Given the description of an element on the screen output the (x, y) to click on. 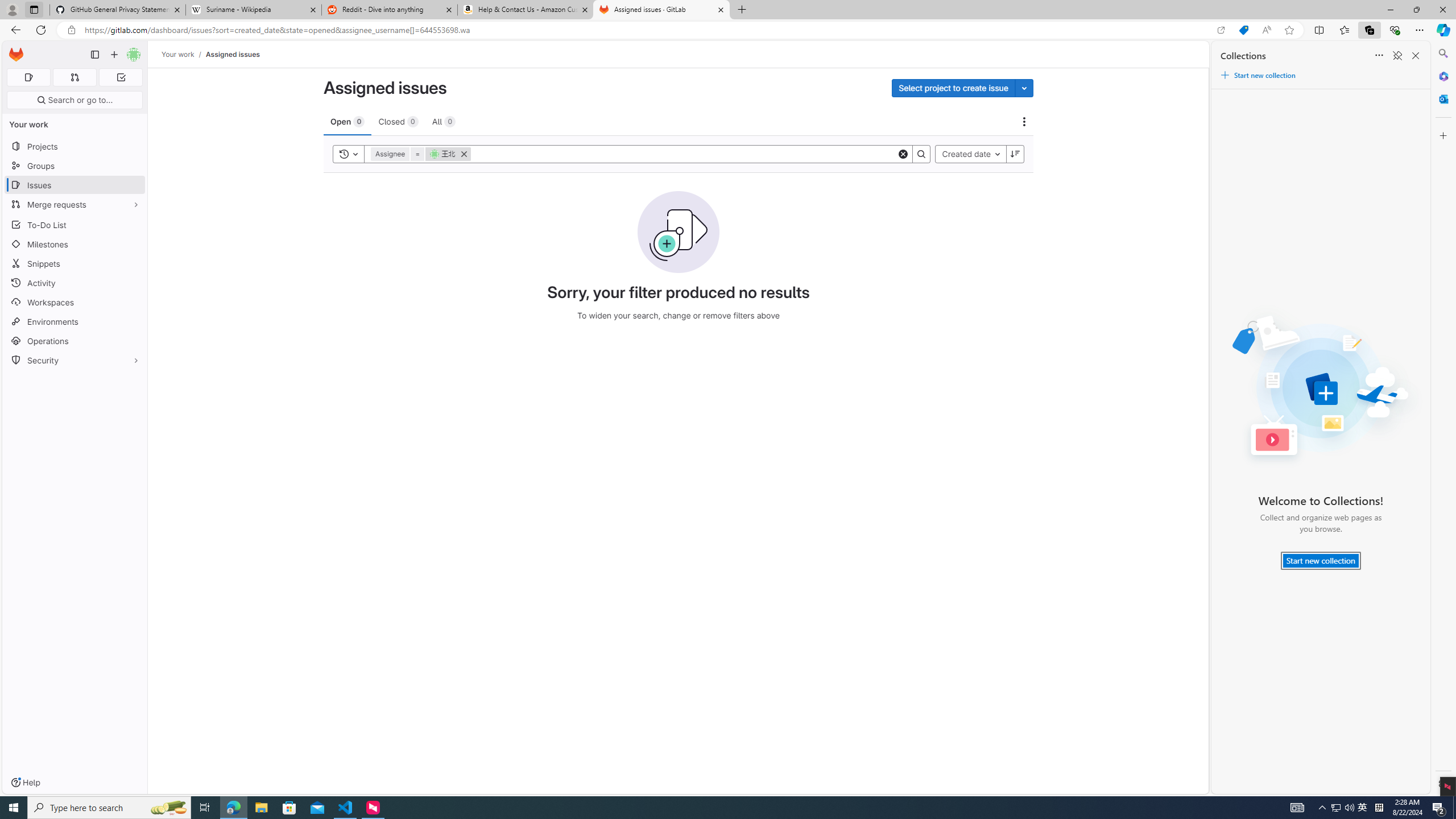
Merge requests (74, 203)
Issues (74, 185)
avatar (434, 153)
To-Do list 0 (120, 76)
Skip to main content (13, 49)
Milestones (74, 244)
Operations (74, 340)
Sort (1379, 55)
